Given the description of an element on the screen output the (x, y) to click on. 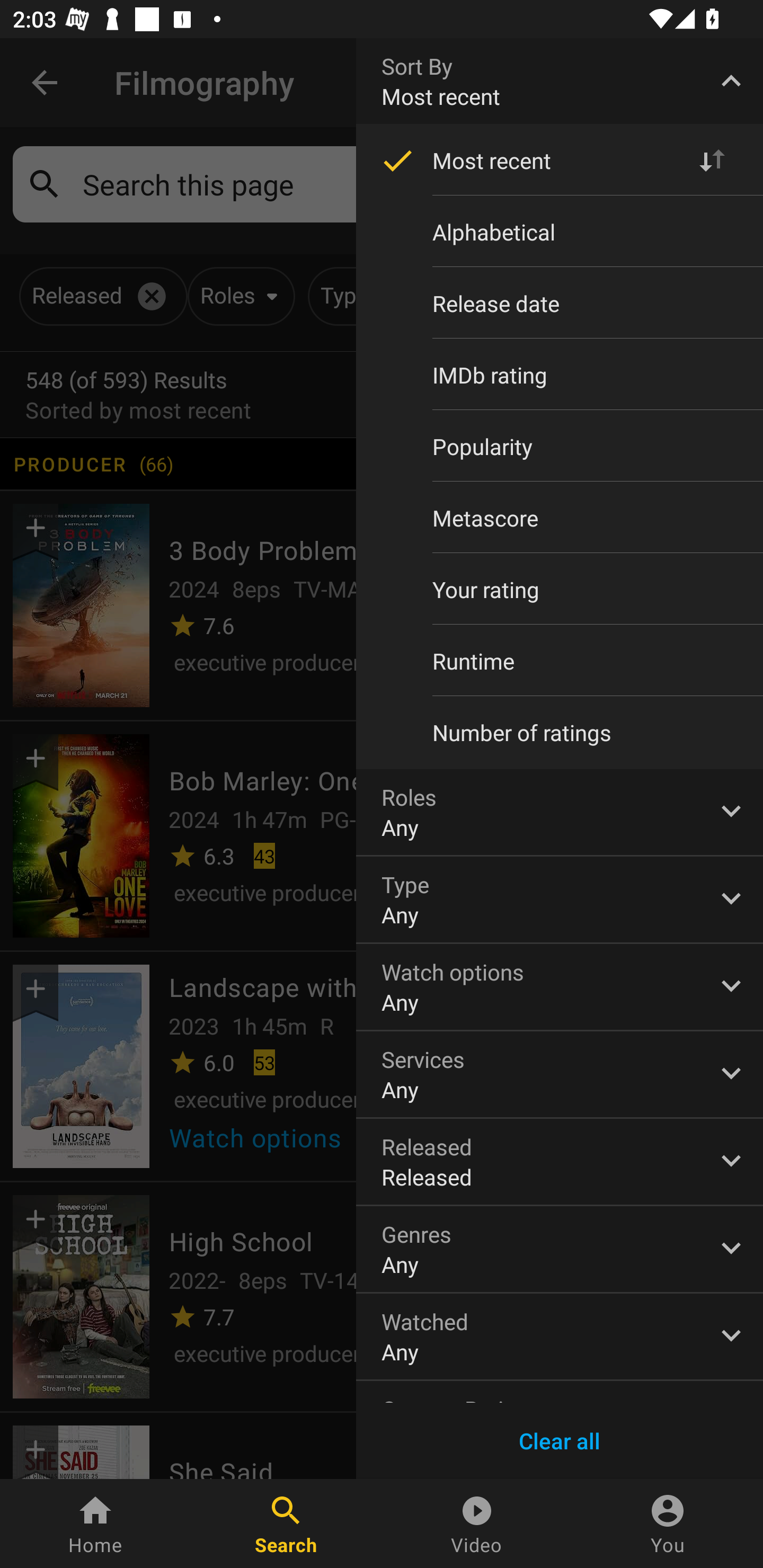
Sort By Most recent (559, 80)
Most recent (559, 160)
Alphabetical (559, 231)
Release date (559, 303)
IMDb rating (559, 374)
Popularity (559, 445)
Metascore (559, 517)
Your rating (559, 589)
Runtime (559, 660)
Number of ratings (559, 732)
Roles Any (559, 811)
Type Any (559, 899)
Watch options Any (559, 986)
Services Any (559, 1073)
Released (559, 1161)
Genres Any (559, 1248)
Watched Any (559, 1336)
Clear all (559, 1440)
Home (95, 1523)
Video (476, 1523)
You (667, 1523)
